Given the description of an element on the screen output the (x, y) to click on. 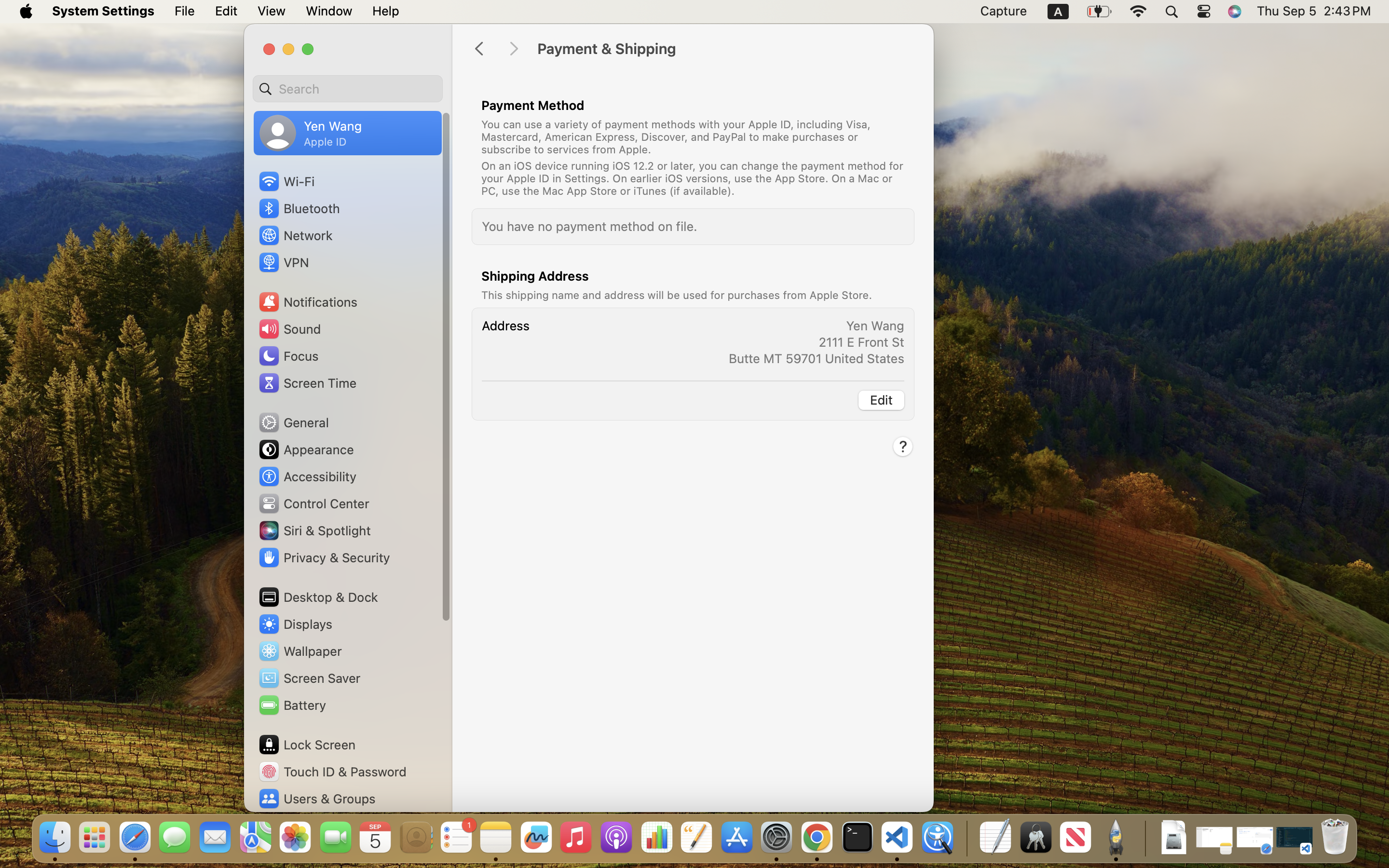
You have no payment method on file. Element type: AXStaticText (589, 225)
Wi‑Fi Element type: AXStaticText (285, 180)
This shipping name and address will be used for purchases from Apple Store. Element type: AXStaticText (676, 294)
Network Element type: AXStaticText (294, 234)
You can use a variety of payment methods with your Apple ID, including Visa, Mastercard, American Express, Discover, and PayPal to make purchases or subscribe to services from Apple. Element type: AXStaticText (676, 136)
